Given the description of an element on the screen output the (x, y) to click on. 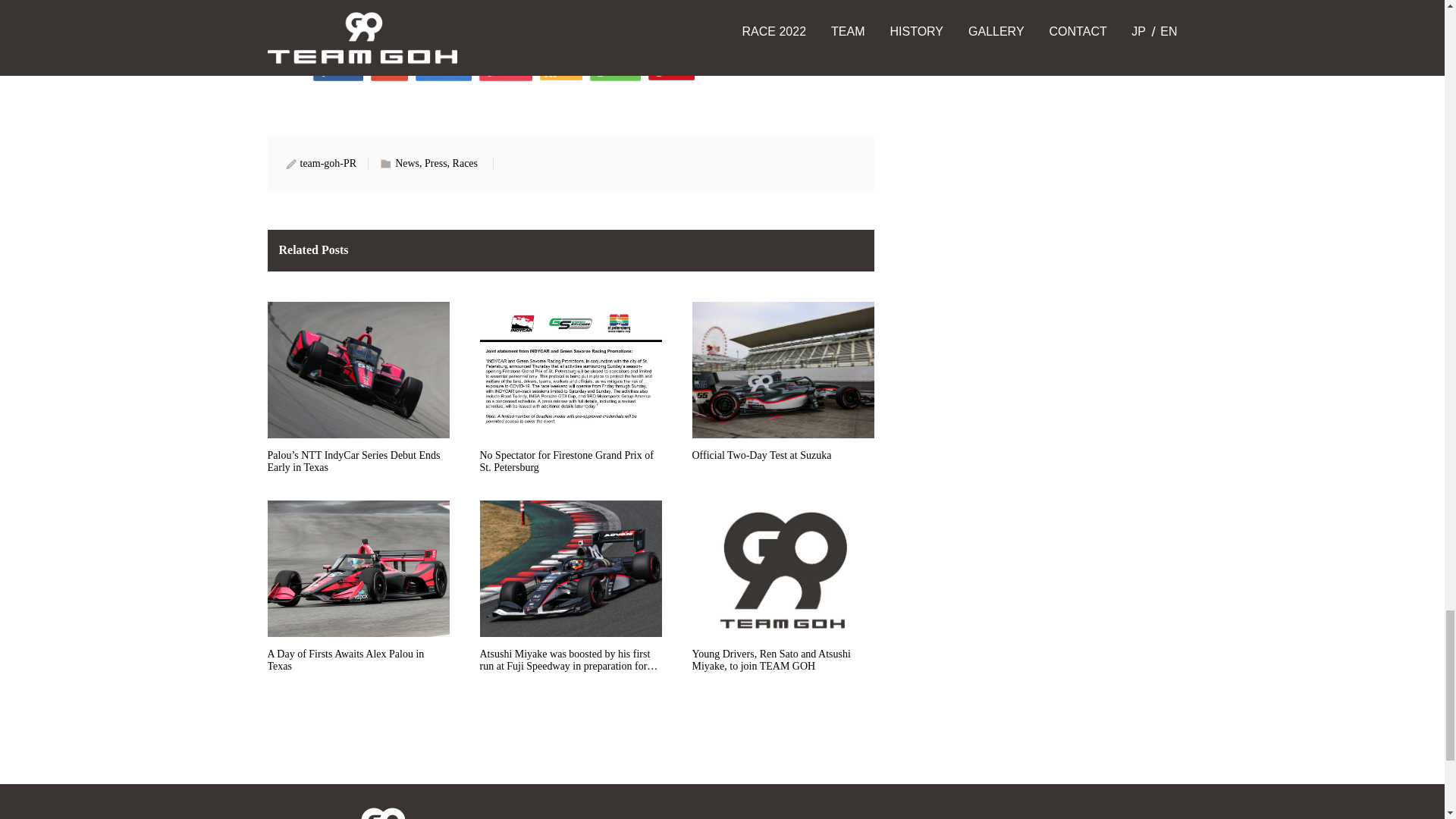
A Day of Firsts Awaits Alex Palou in Texas (357, 591)
Young Drivers, Ren Sato and Atsushi Miyake, to join TEAM GOH (782, 591)
Official Two-Day Test at Suzuka (782, 393)
No Spectator for Firestone Grand Prix of St. Petersburg (570, 393)
